Given the description of an element on the screen output the (x, y) to click on. 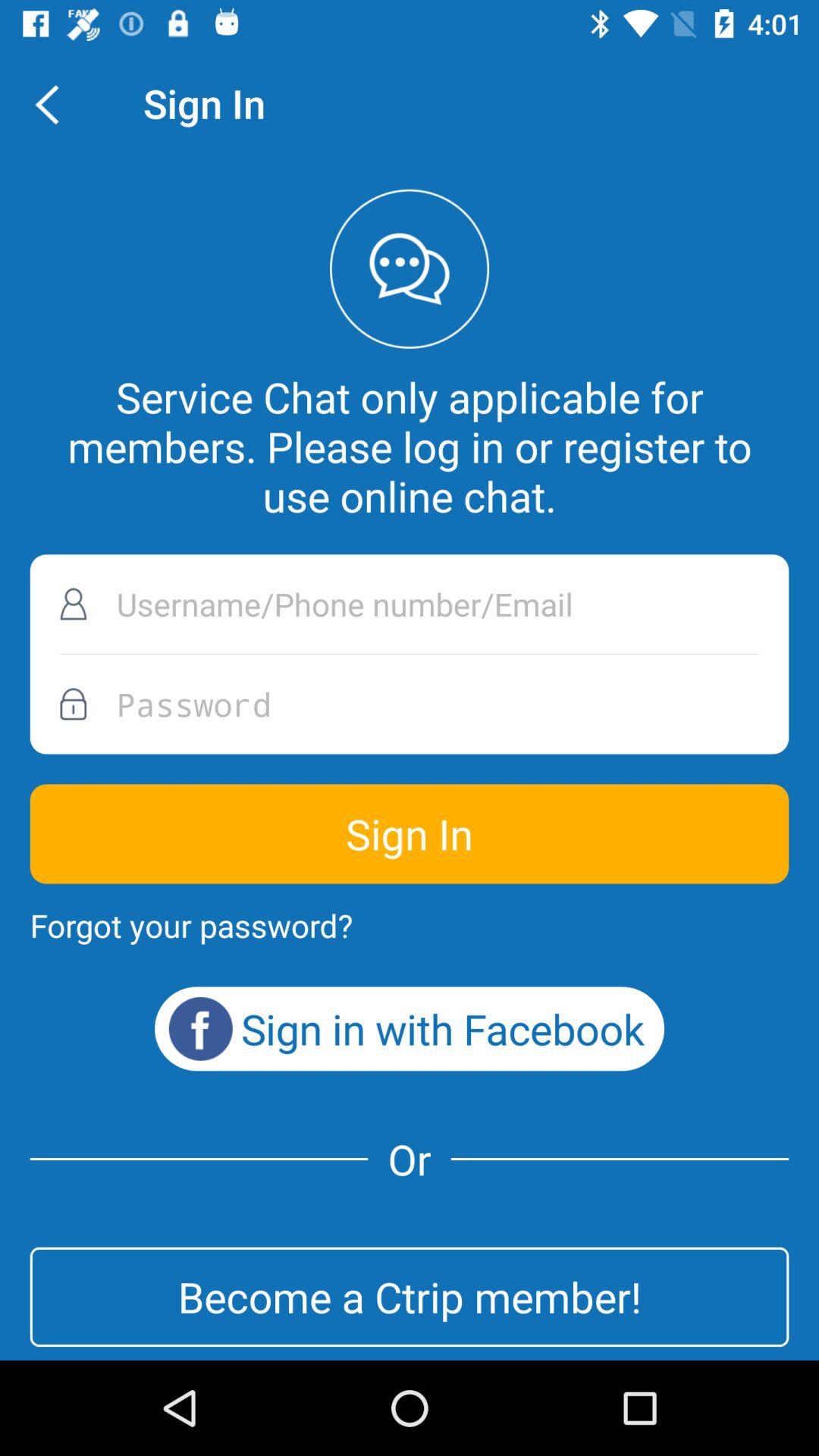
name button (409, 604)
